Given the description of an element on the screen output the (x, y) to click on. 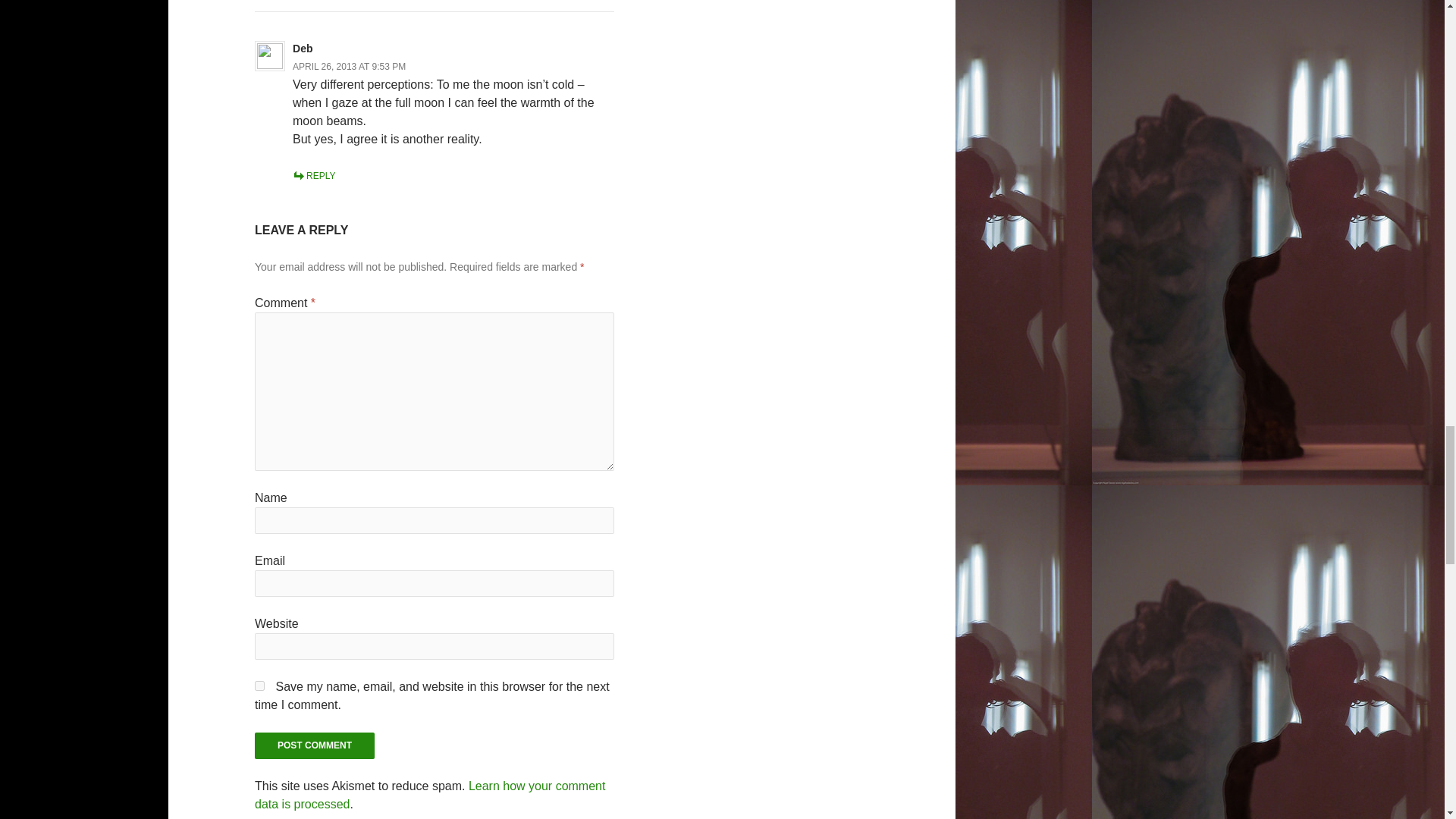
yes (259, 685)
Learn how your comment data is processed (429, 794)
Post Comment (314, 745)
REPLY (313, 175)
Post Comment (314, 745)
APRIL 26, 2013 AT 9:53 PM (349, 66)
